Given the description of an element on the screen output the (x, y) to click on. 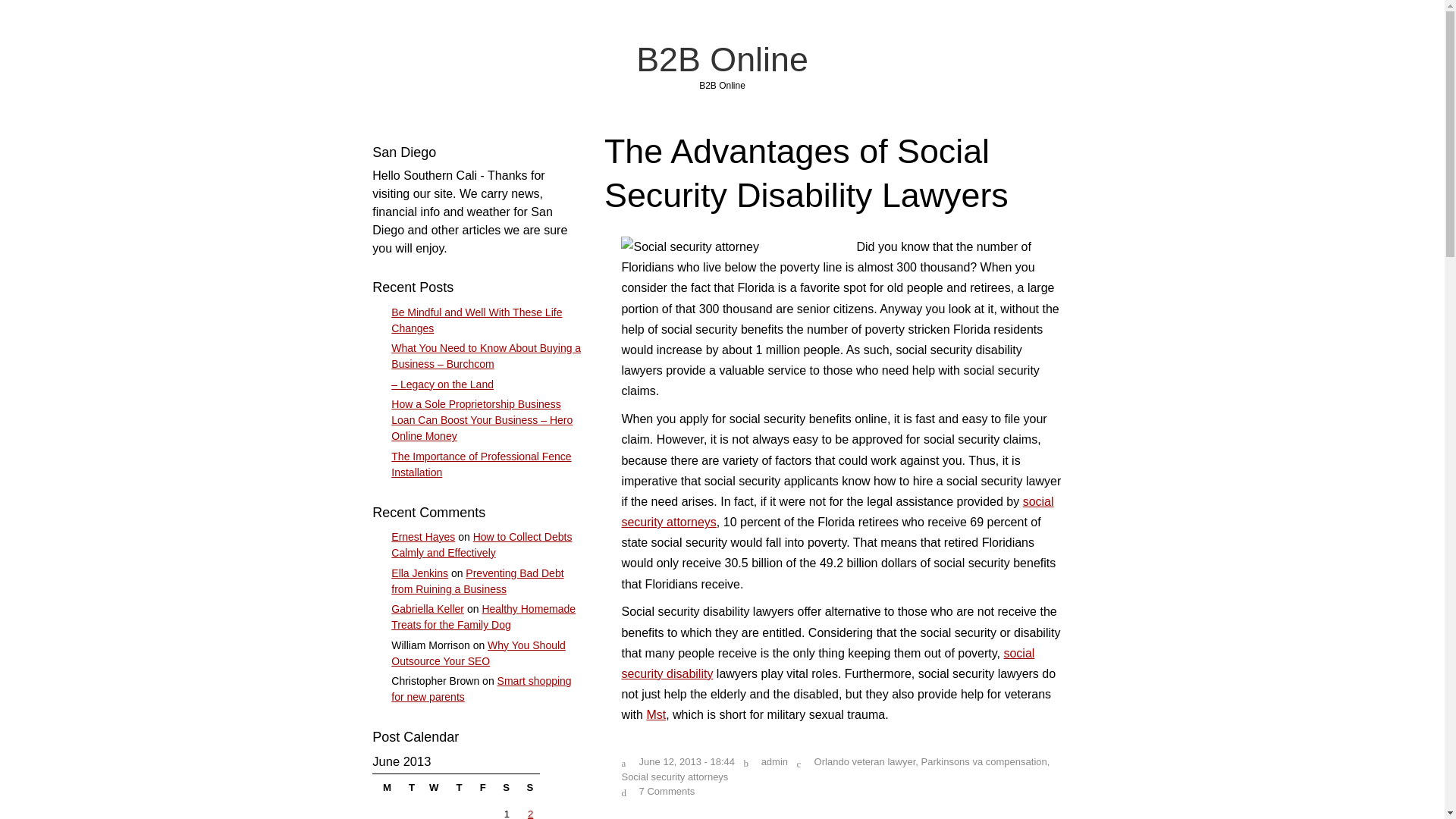
Gabriella Keller (427, 608)
social security disability (827, 663)
Orlando veteran lawyer (864, 761)
B2B Online (722, 58)
Be Mindful and Well With These Life Changes (476, 320)
admin (774, 761)
Preventing Bad Debt from Ruining a Business (477, 581)
June 12, 2013 - 18:44 (687, 761)
social security attorneys (836, 511)
Social security lawyers, Social security disability lawyer (827, 663)
